Given the description of an element on the screen output the (x, y) to click on. 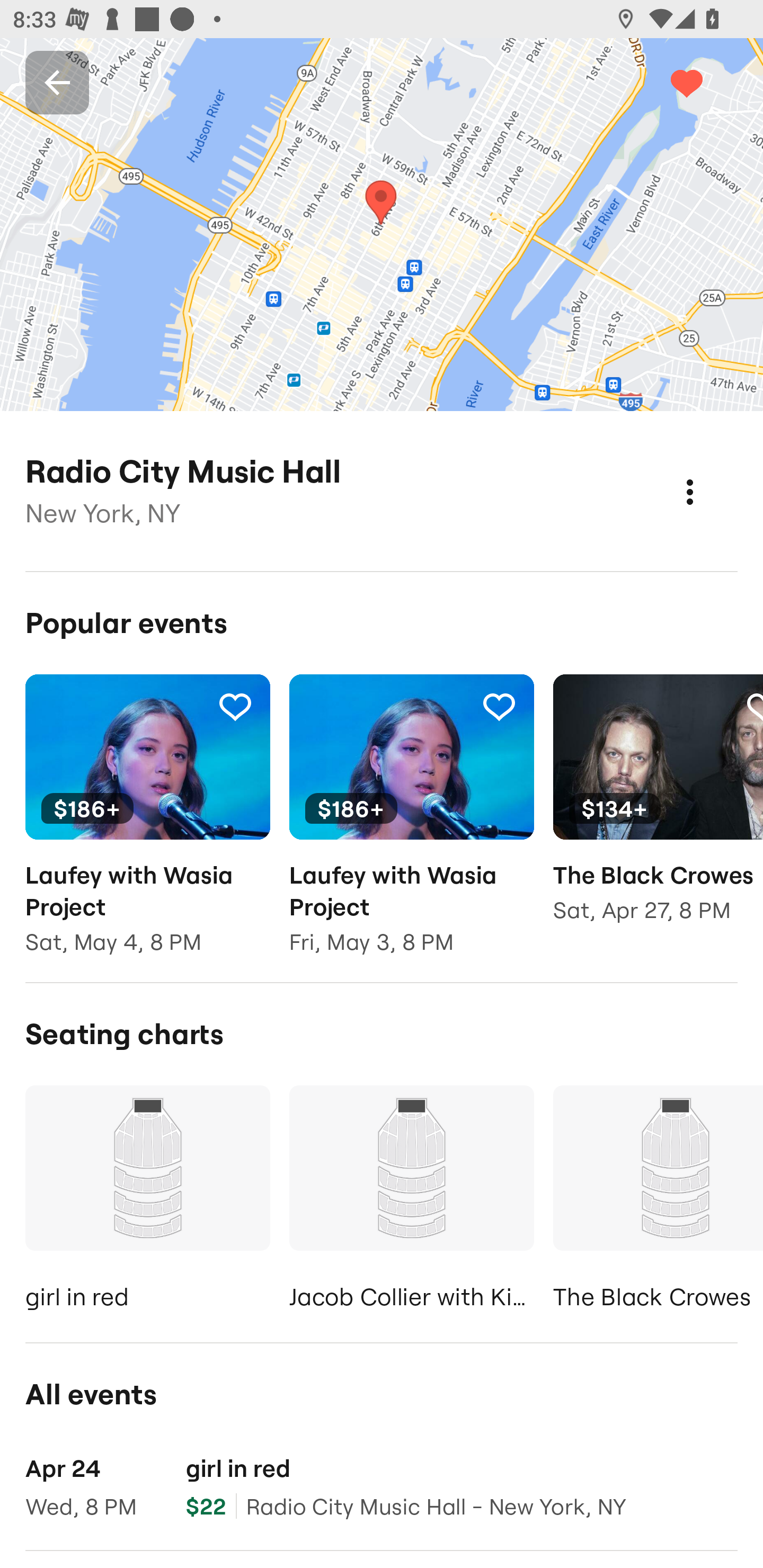
Back (57, 81)
Tracking (705, 81)
See more options (708, 472)
Tracking $134+ The Black Crowes Sat, Apr 27, 8 PM (658, 811)
Tracking (234, 705)
Tracking (498, 705)
girl in red (147, 1201)
Jacob Collier with Kimbra (411, 1201)
The Black Crowes (658, 1201)
